Given the description of an element on the screen output the (x, y) to click on. 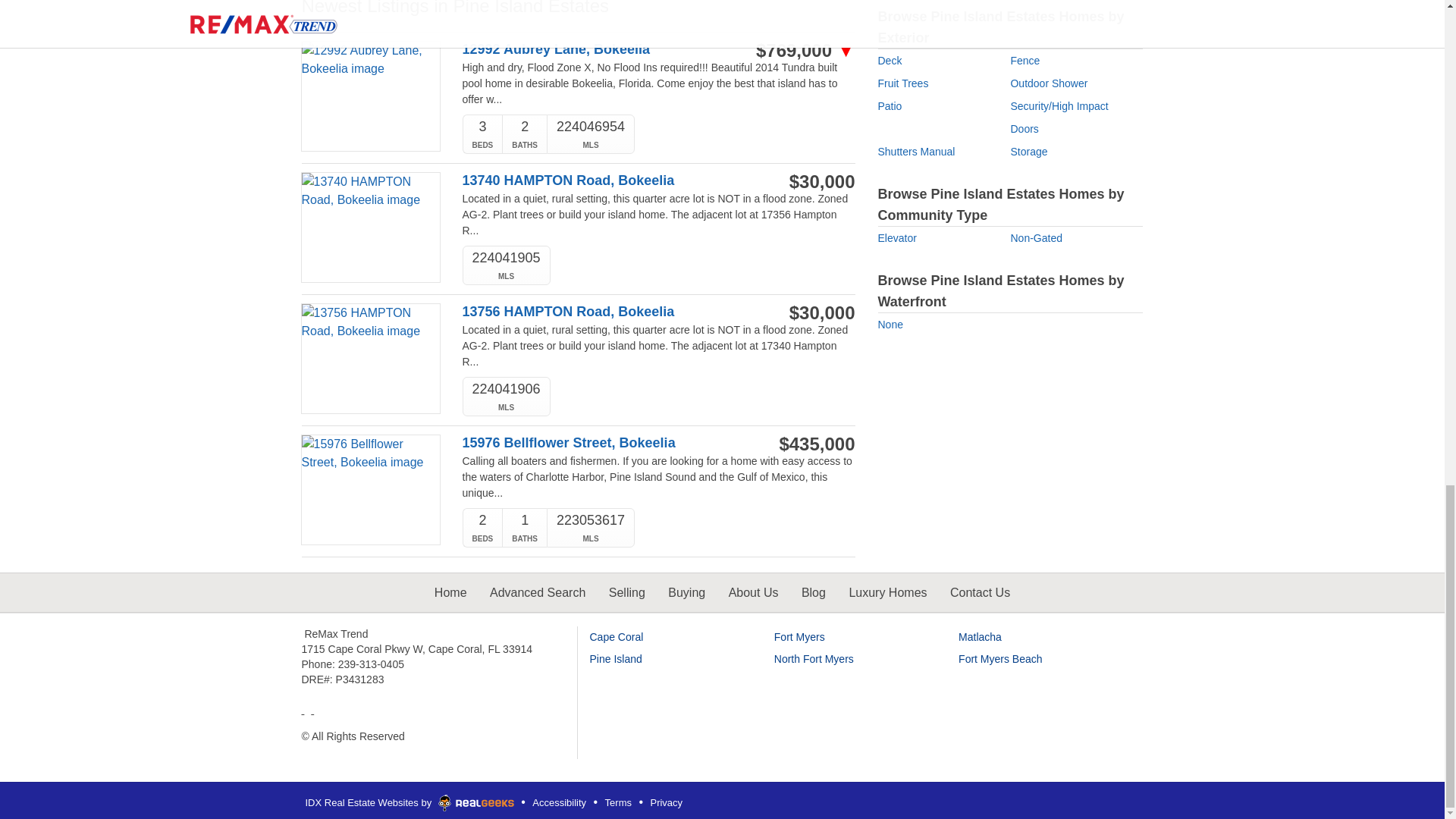
15976 Bellflower Street, Bokeelia (600, 442)
13740 HAMPTON Road, Bokeelia (600, 180)
13756 HAMPTON Road, Bokeelia (600, 311)
12992 Aubrey Lane, Bokeelia (600, 49)
